Given the description of an element on the screen output the (x, y) to click on. 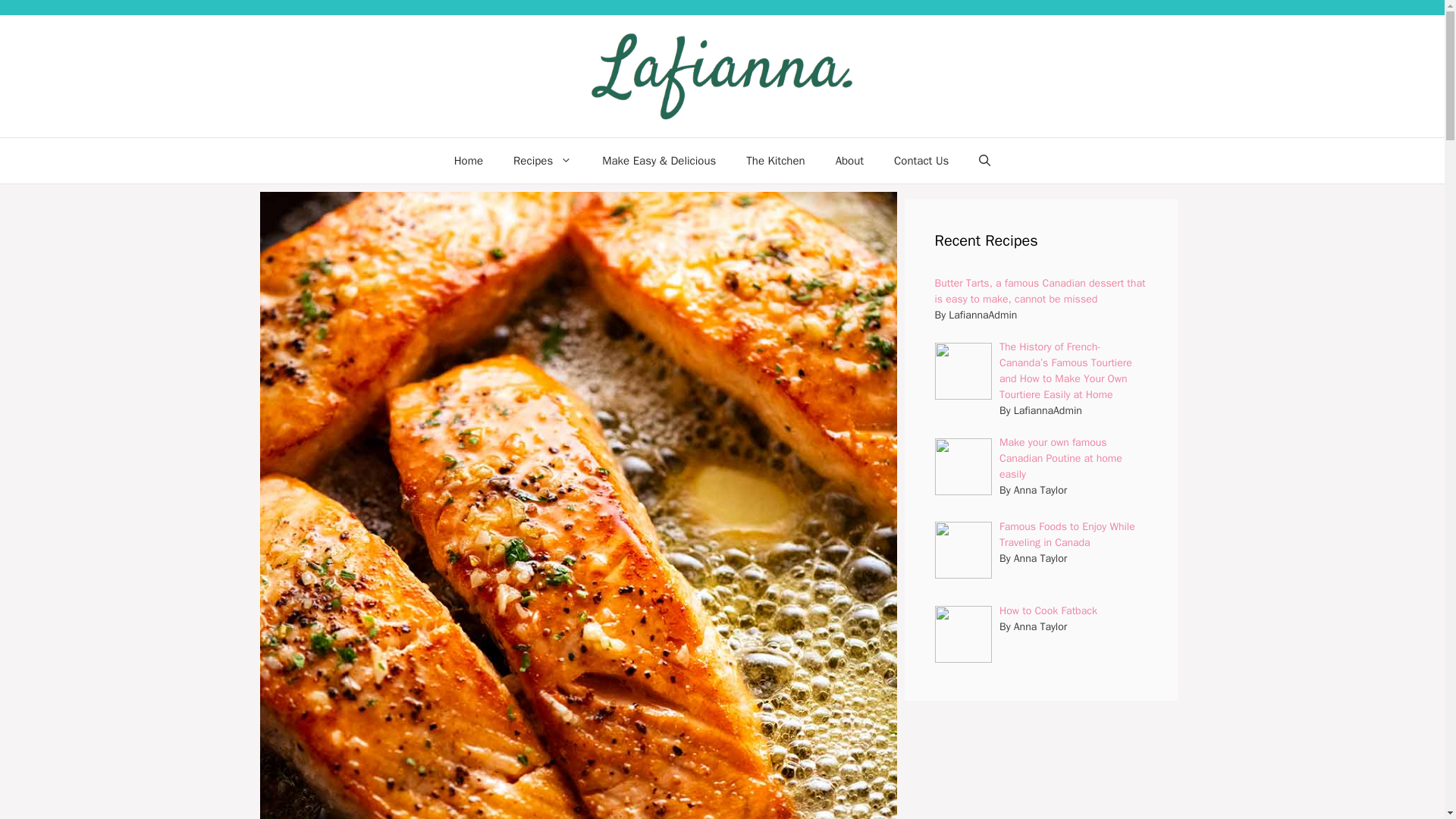
Recipes (541, 160)
Make your own famous Canadian Poutine at home easily (1060, 457)
Lafianna.com (722, 76)
About (850, 160)
The Kitchen (774, 160)
Contact Us (921, 160)
Home (468, 160)
Lafianna.com (722, 75)
